Given the description of an element on the screen output the (x, y) to click on. 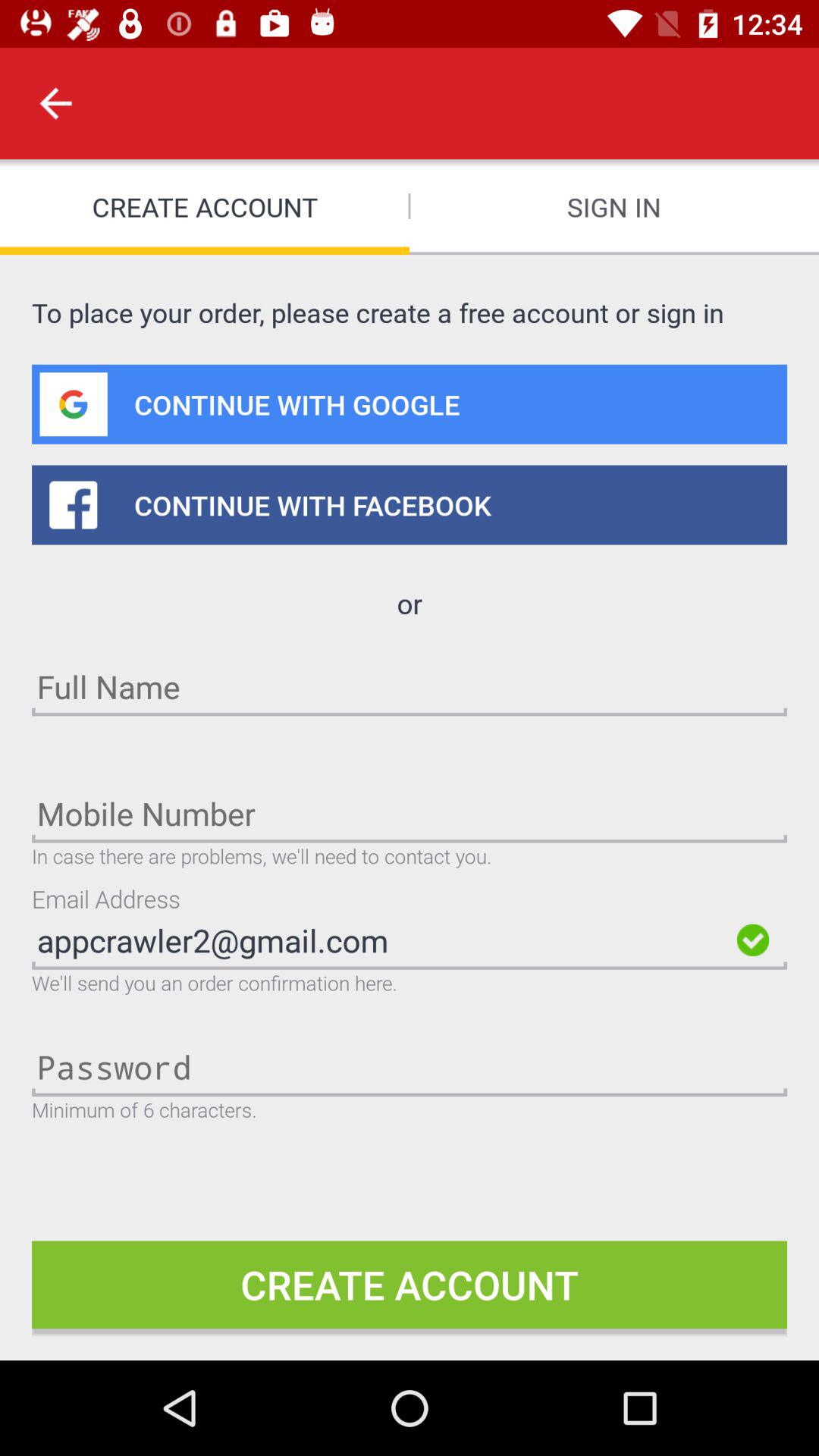
press the item to the left of sign in icon (55, 103)
